Given the description of an element on the screen output the (x, y) to click on. 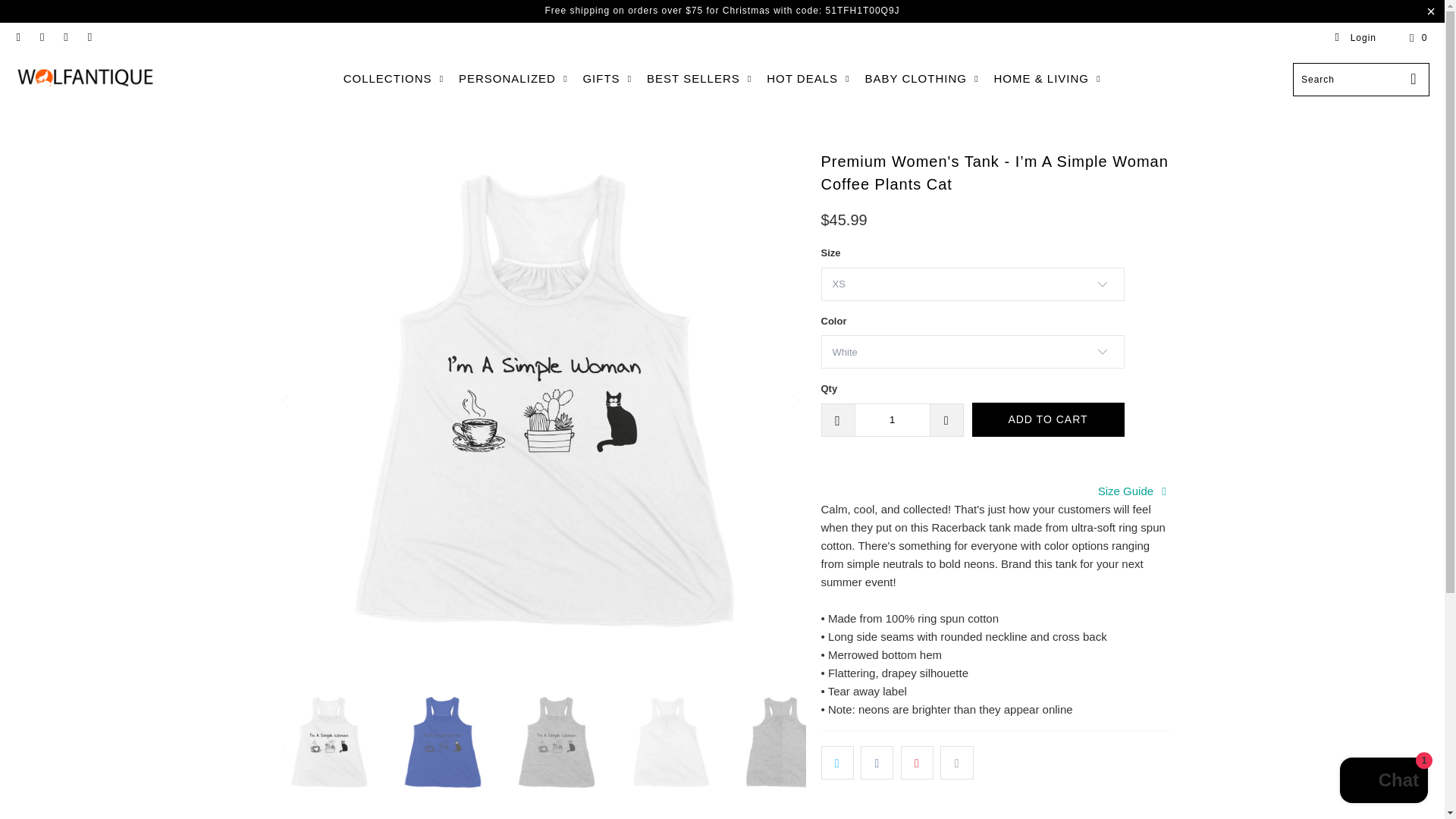
Wolfantique on Facebook (17, 37)
Email this to a friend (956, 762)
Wolfantique on Pinterest (41, 37)
Share this on Facebook (876, 762)
1 (891, 419)
Wolfantique on Instagram (65, 37)
Email Wolfantique (89, 37)
My Account  (1355, 37)
Wolfantique (84, 78)
Share this on Pinterest (917, 762)
Share this on Twitter (837, 762)
